Given the description of an element on the screen output the (x, y) to click on. 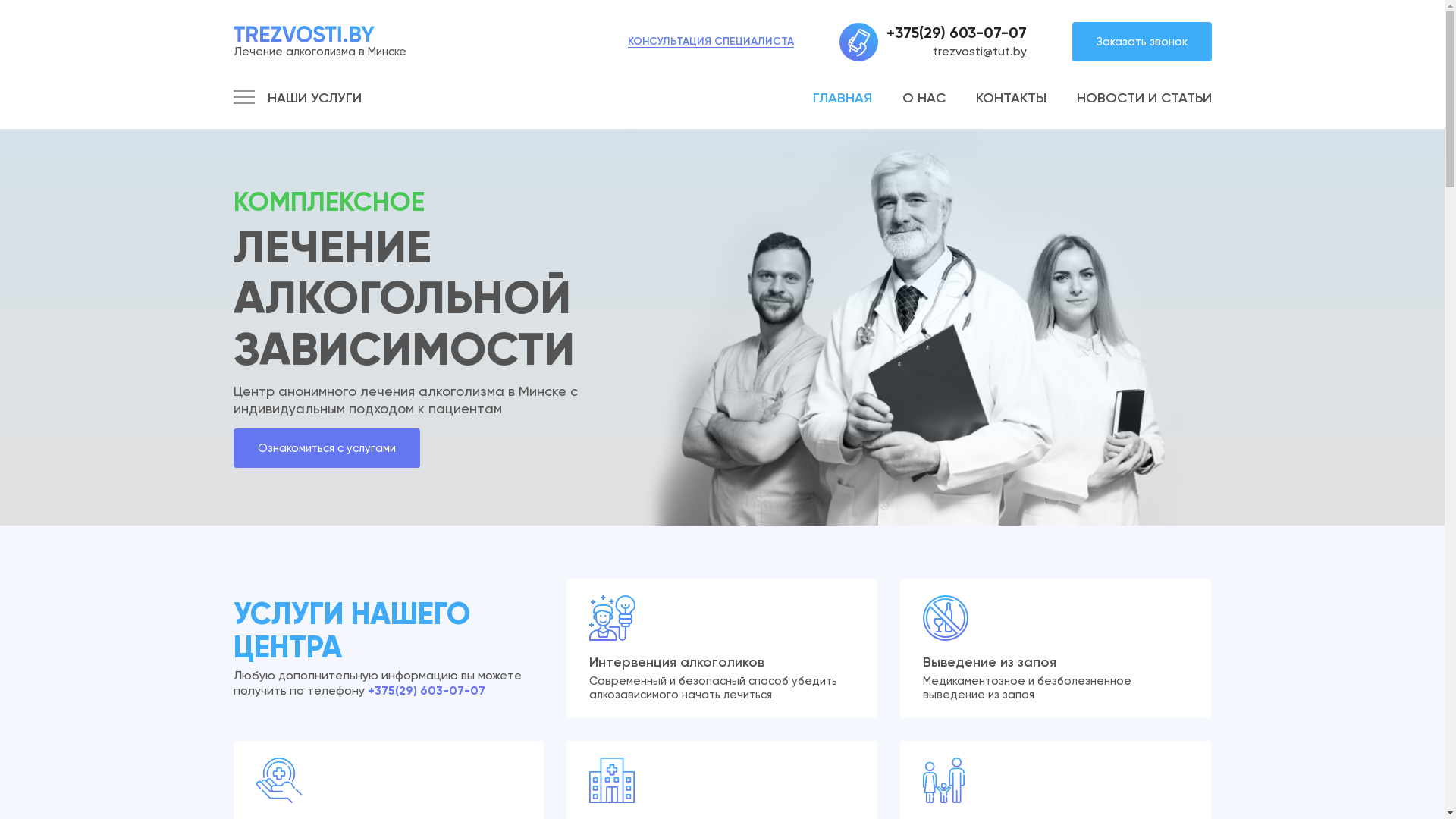
trezvosti@tut.by Element type: text (979, 51)
+375(29) 603-07-07 Element type: text (425, 690)
+375(29) 603-07-07 Element type: text (955, 32)
